Given the description of an element on the screen output the (x, y) to click on. 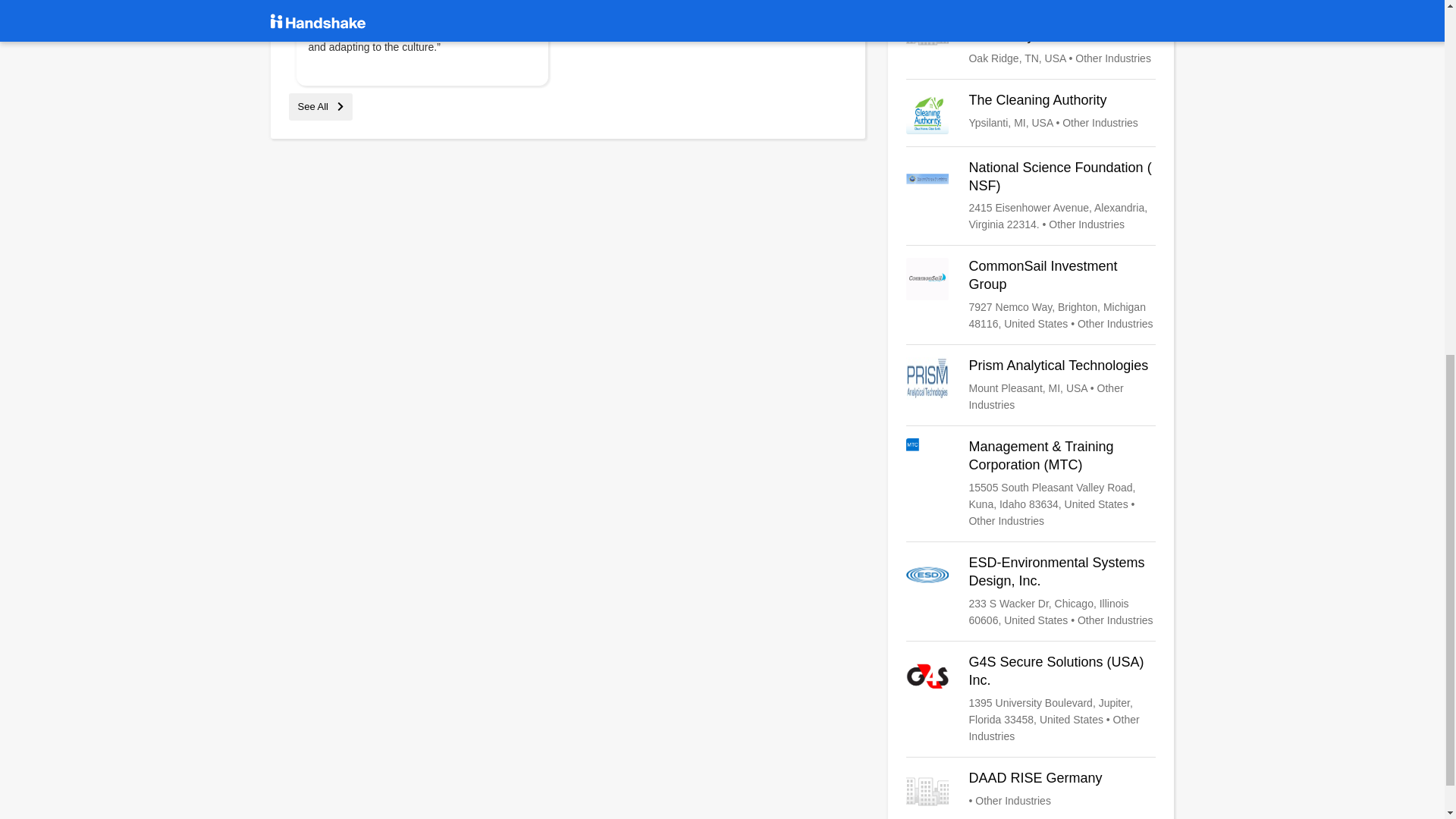
The Cleaning Authority (1030, 112)
ESD-Environmental Systems Design, Inc. (1030, 591)
CommonSail Investment Group (1030, 294)
See All (320, 106)
Prism Analytical Technologies (1030, 385)
DAAD RISE Germany (1030, 790)
National Energy Technology Laboratory (1030, 37)
